Given the description of an element on the screen output the (x, y) to click on. 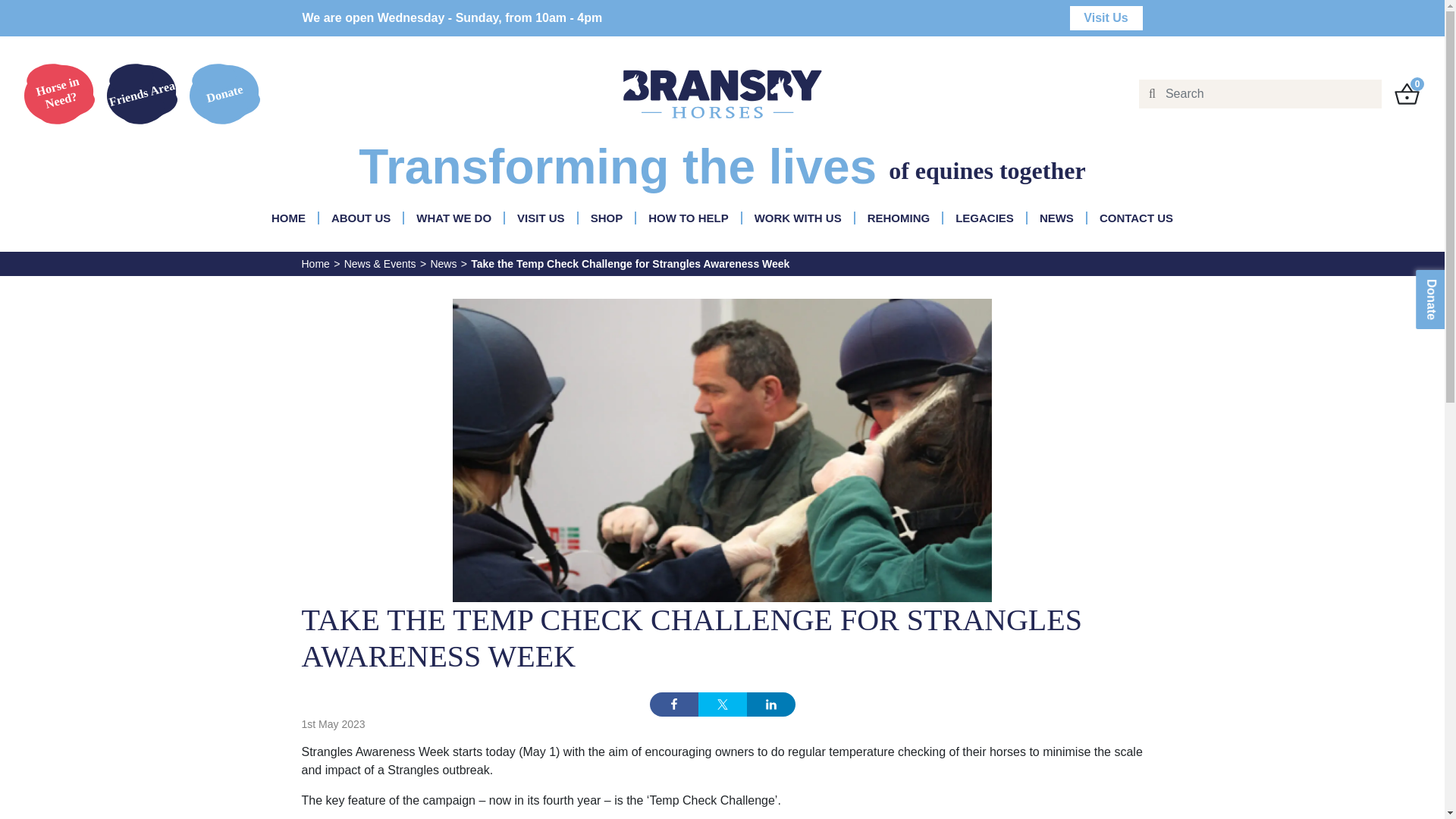
Horse in Need? (59, 93)
Share on Facebook (673, 704)
VISIT US (540, 217)
CONTACT US (1136, 217)
NEWS (1056, 217)
WHAT WE DO (454, 217)
HOW TO HELP (688, 217)
Share on LinkedIn (769, 704)
REHOMING (898, 217)
Share on Twitter (721, 704)
